Given the description of an element on the screen output the (x, y) to click on. 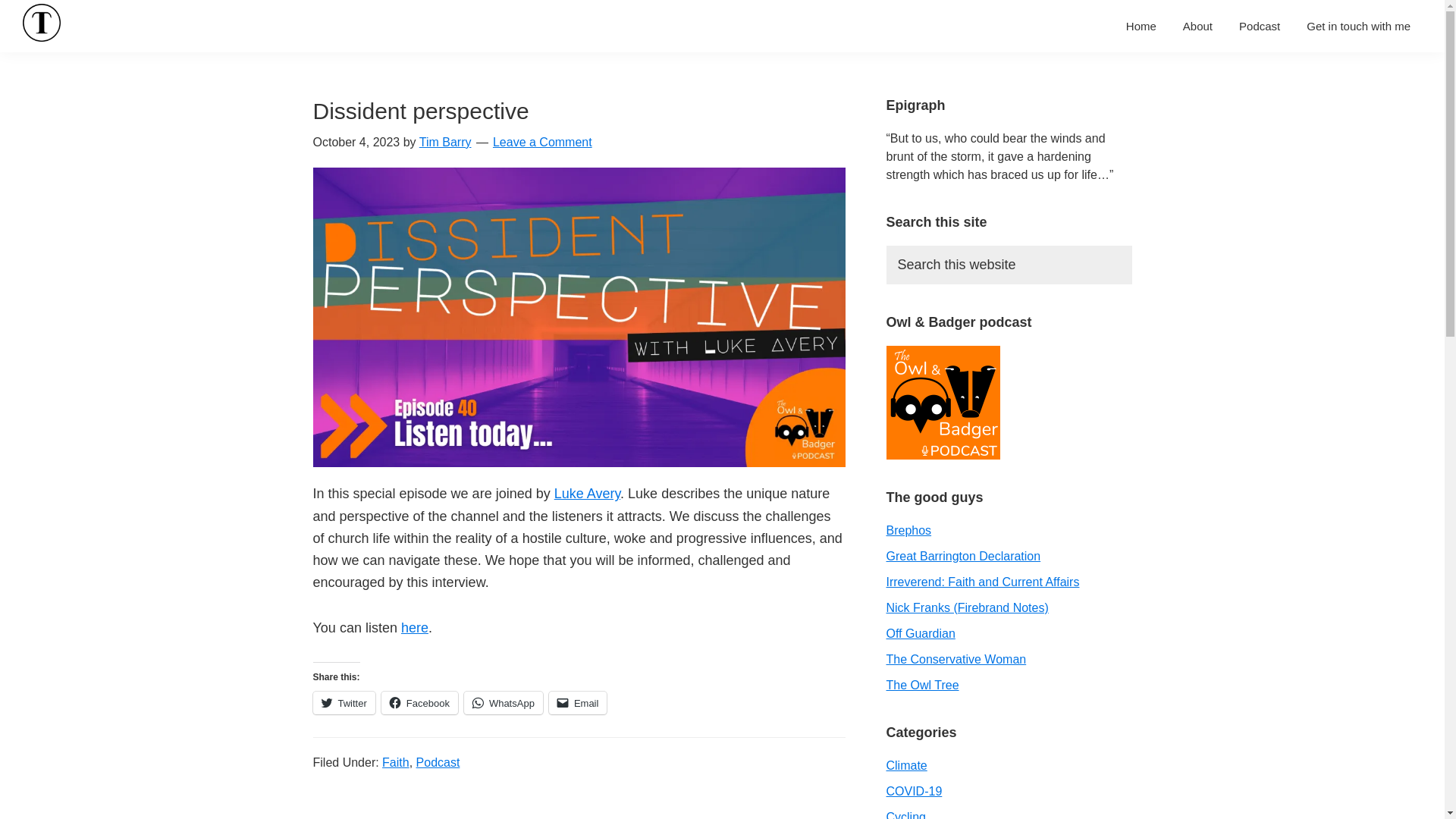
About (1198, 25)
WhatsApp (503, 702)
Email (577, 702)
Brephos (908, 530)
Click to share on Facebook (419, 702)
Podcast (1259, 25)
here (414, 627)
Click to email a link to a friend (577, 702)
Irreverend: Faith and Current Affairs (981, 581)
Climate (905, 765)
Facebook (419, 702)
Luke Avery (587, 493)
Great Barrington Declaration (963, 555)
